Given the description of an element on the screen output the (x, y) to click on. 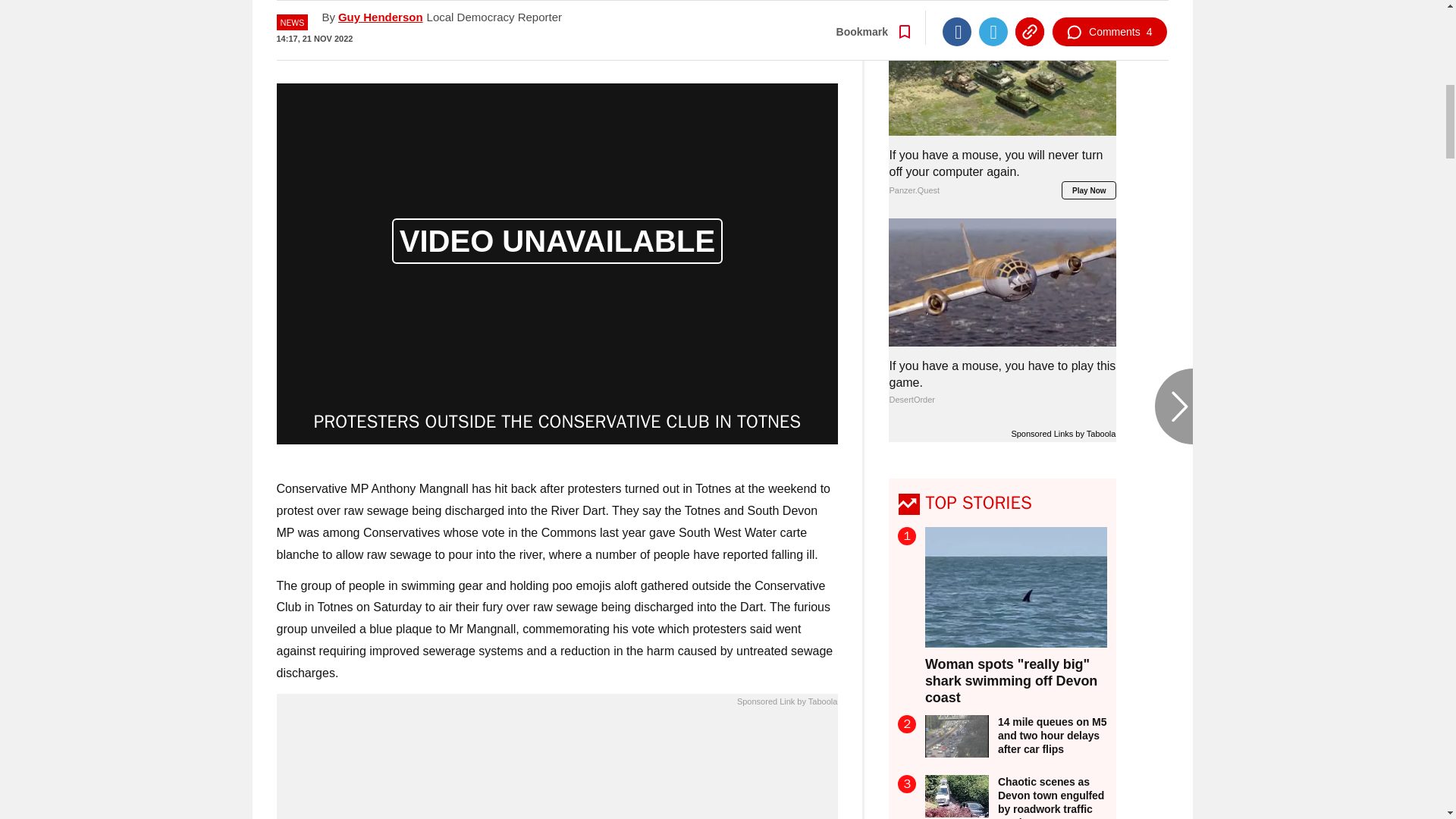
Go (730, 34)
